Given the description of an element on the screen output the (x, y) to click on. 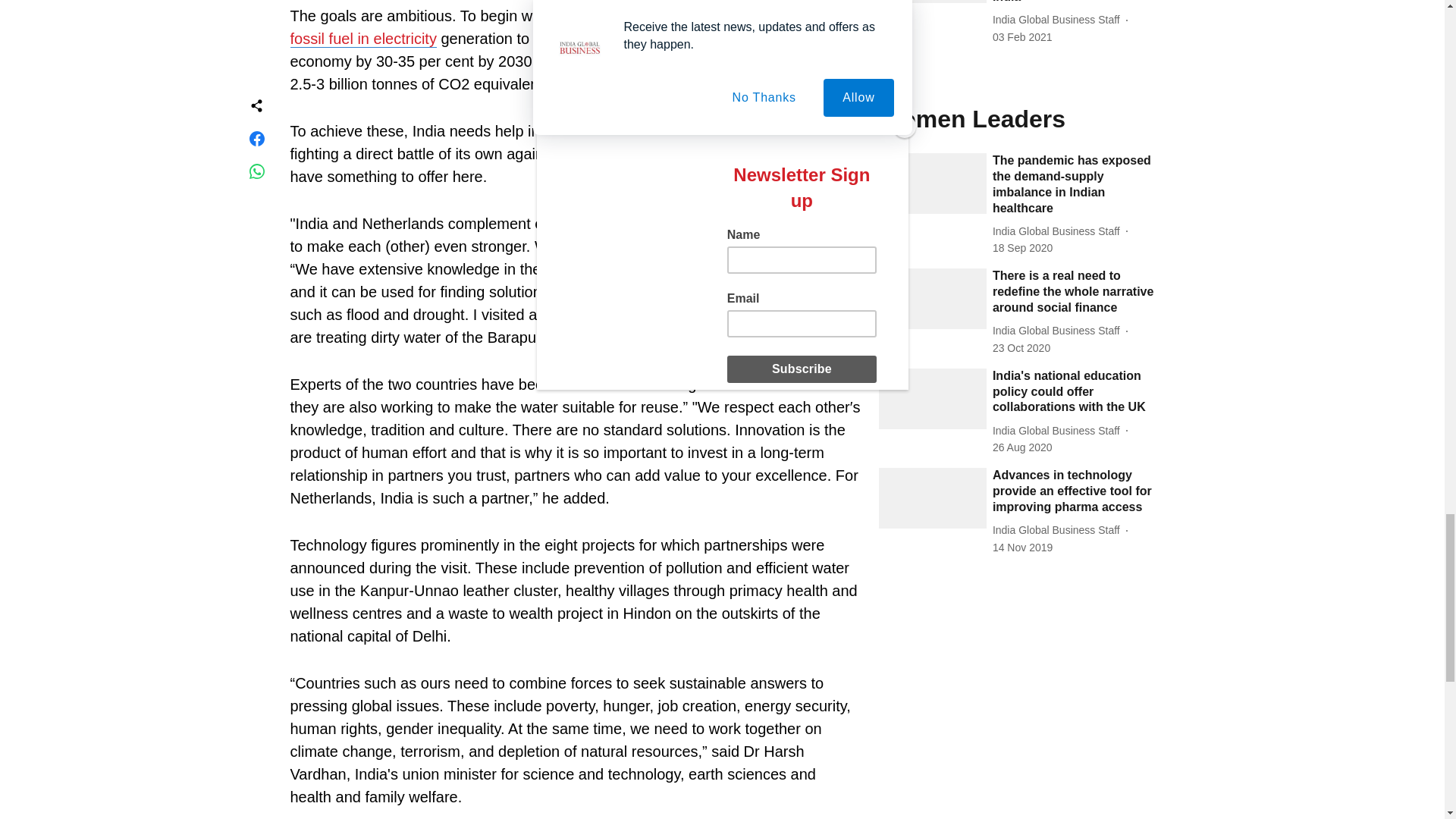
2021-02-03 05:51 (1022, 37)
